Given the description of an element on the screen output the (x, y) to click on. 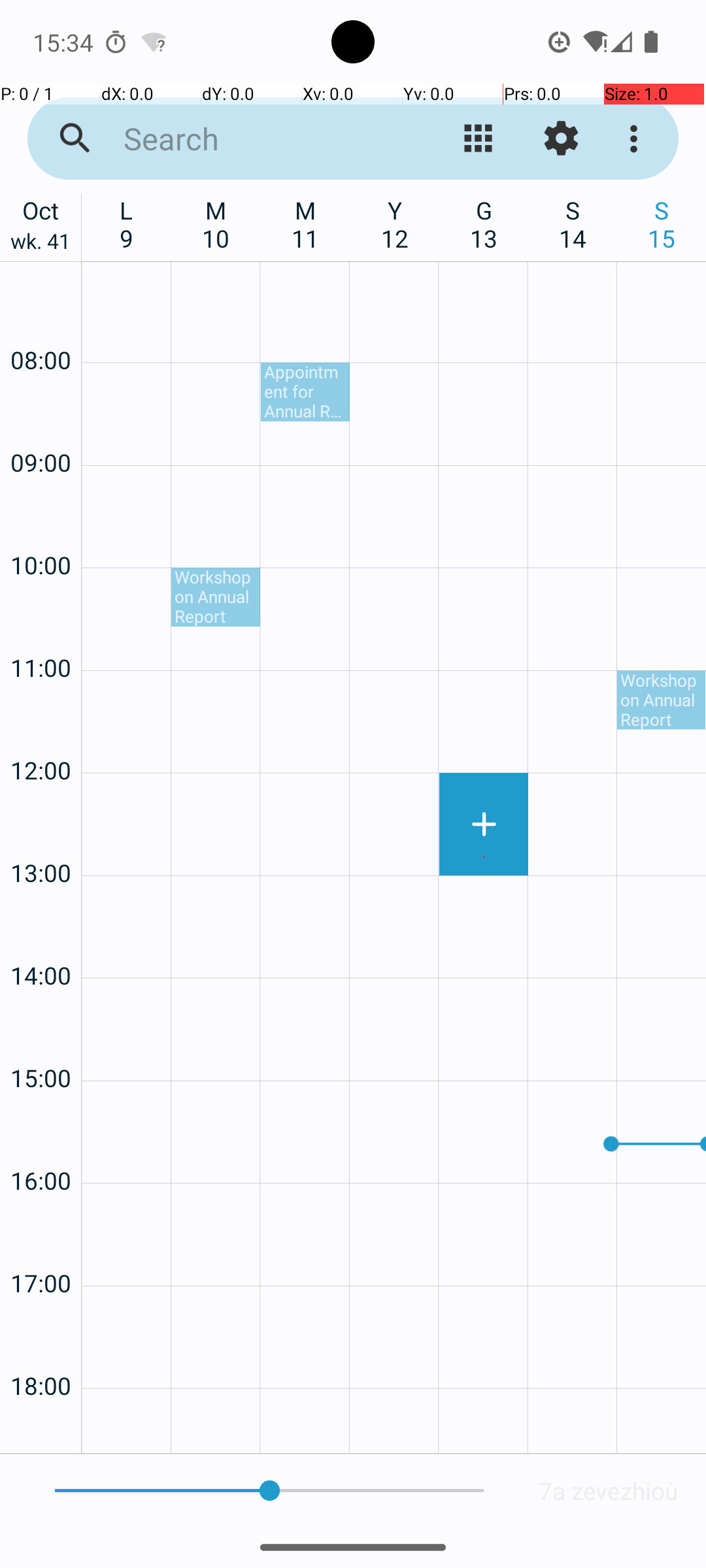
Kemmañ ar gwel Element type: android.widget.Button (477, 138)
7a zevezhioù Element type: android.widget.TextView (608, 1490)
L
9 Element type: android.widget.TextView (126, 223)
M
10 Element type: android.widget.TextView (215, 223)
M
11 Element type: android.widget.TextView (305, 223)
Y
12 Element type: android.widget.TextView (394, 223)
G
13 Element type: android.widget.TextView (483, 223)
